Given the description of an element on the screen output the (x, y) to click on. 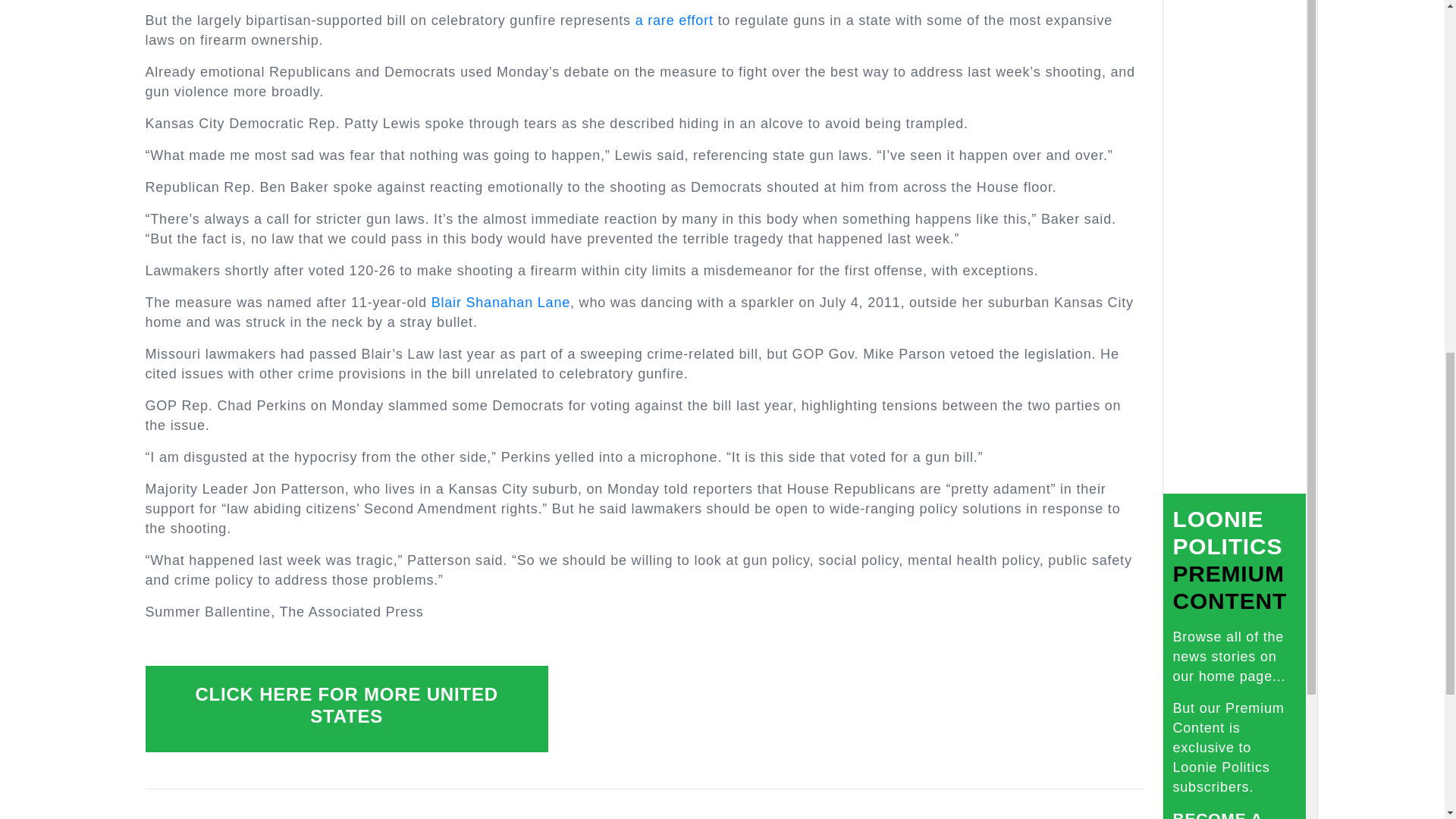
Blair Shanahan Lane (500, 302)
a rare effort (673, 20)
